Given the description of an element on the screen output the (x, y) to click on. 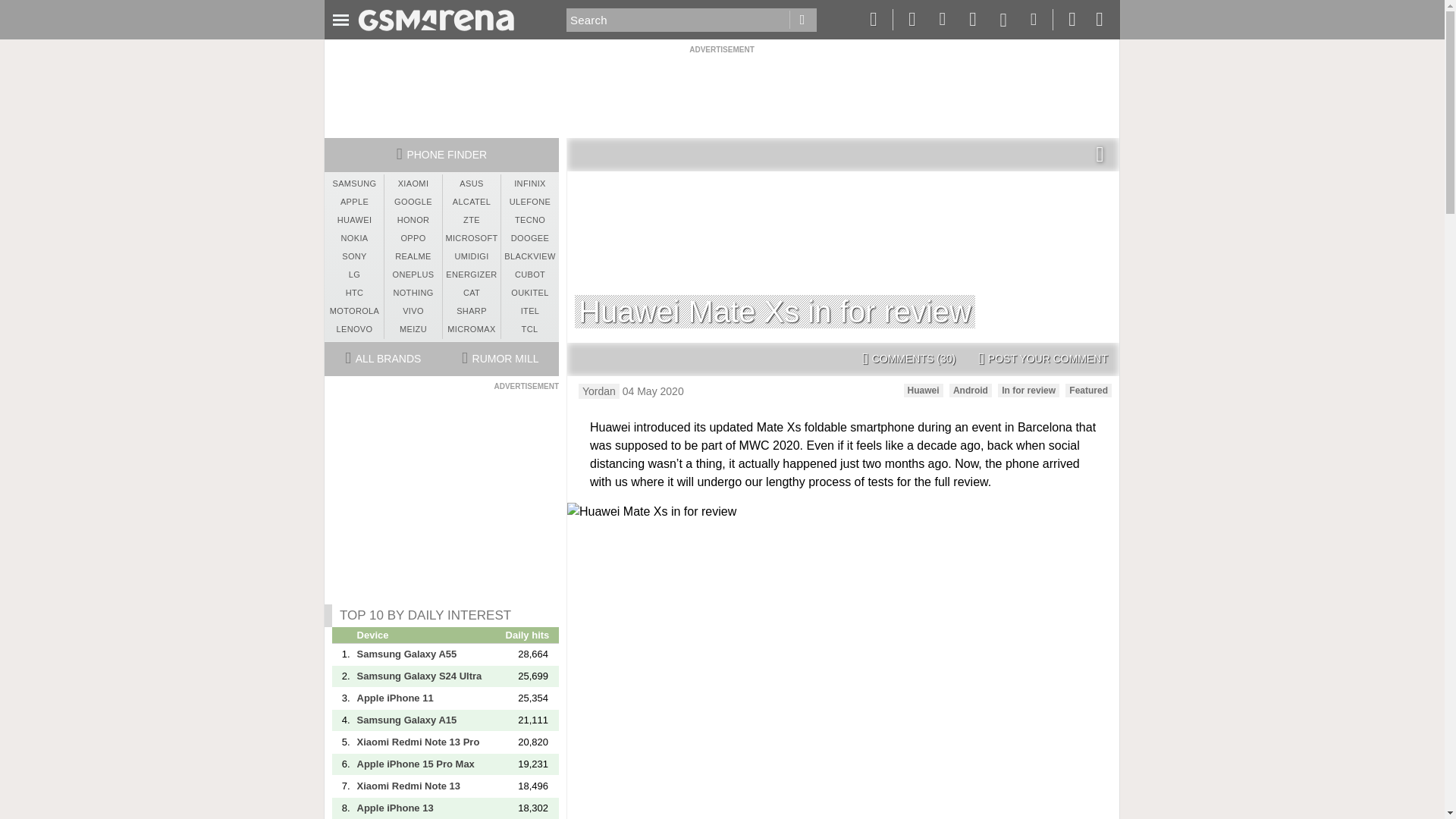
Featured (1088, 390)
Go (802, 19)
POST YOUR COMMENT (1042, 359)
Android (970, 390)
Huawei (923, 390)
Go (802, 19)
Yordan (599, 391)
In for review (1028, 390)
